Given the description of an element on the screen output the (x, y) to click on. 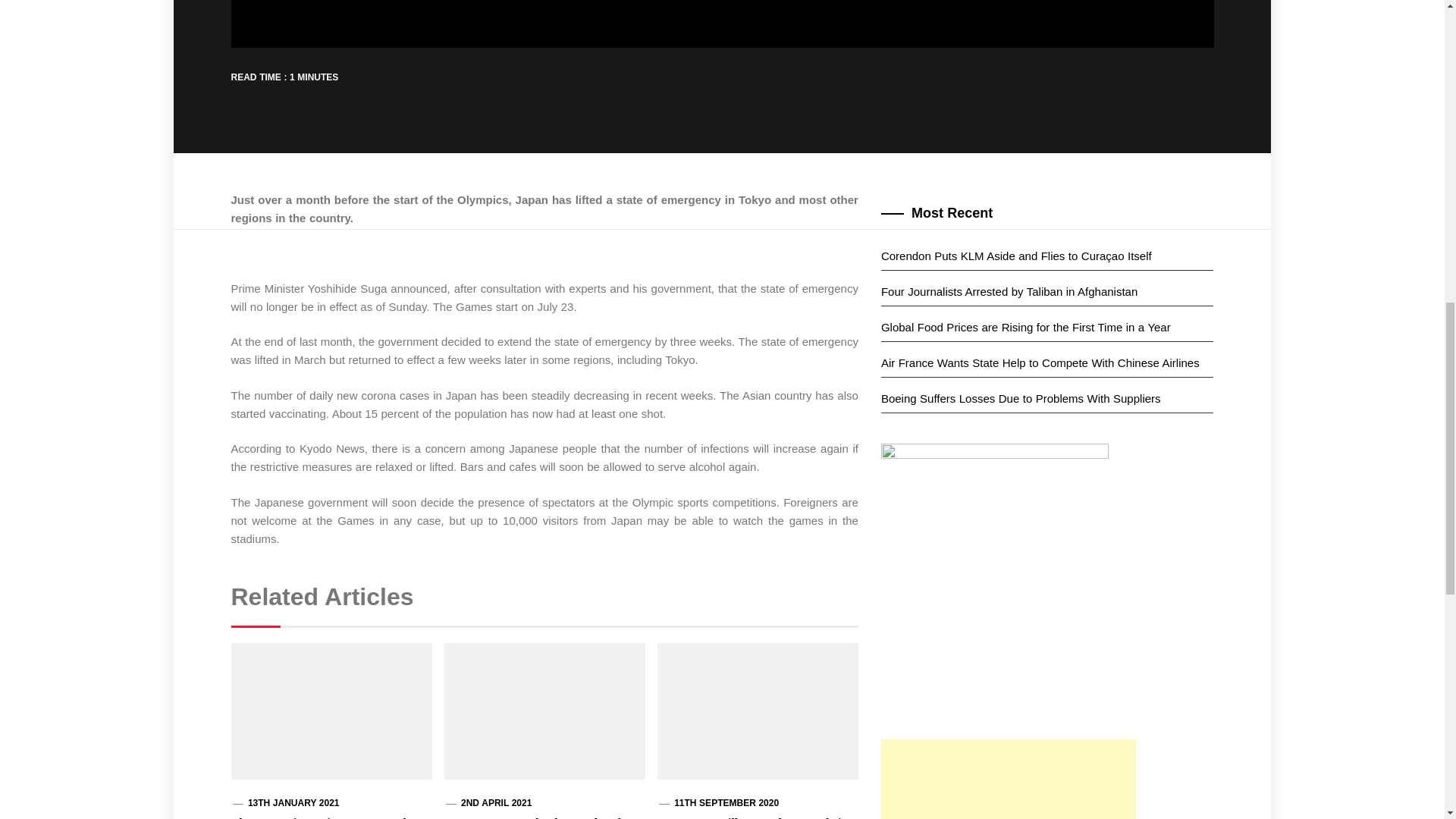
13TH JANUARY 2021 (293, 802)
11TH SEPTEMBER 2020 (726, 802)
Nurses: George Floyd Was Already Dead When Ambulance Arrived (535, 817)
2ND APRIL 2021 (496, 802)
